Given the description of an element on the screen output the (x, y) to click on. 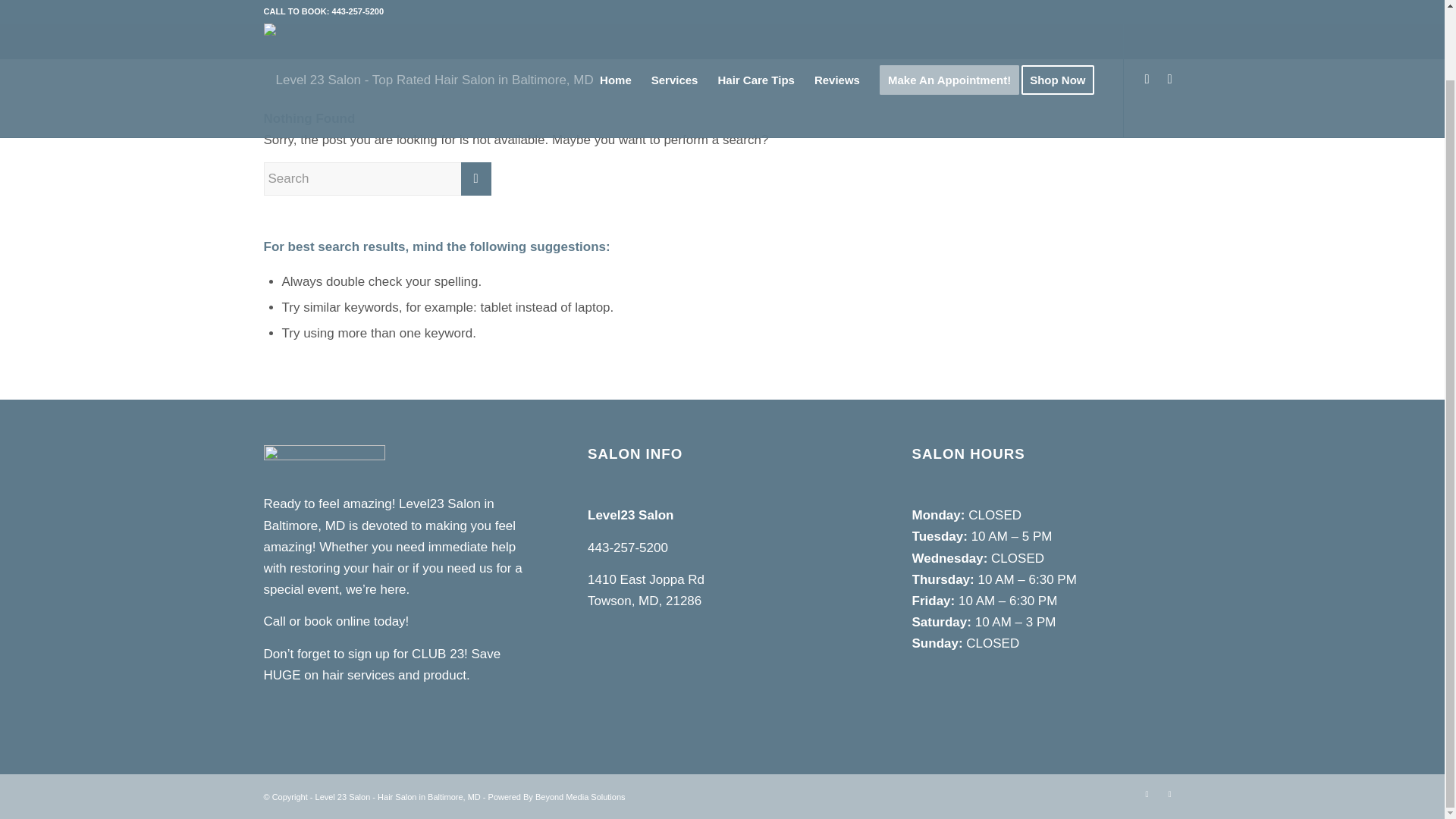
Instagram (1146, 793)
Facebook (1169, 6)
Beyond Media Solutions (580, 796)
Shop Now (1062, 29)
logo (428, 28)
Hair Care Tips (755, 29)
Services (674, 29)
Make An Appointment! (949, 29)
Facebook (1169, 793)
Reviews (837, 29)
